Given the description of an element on the screen output the (x, y) to click on. 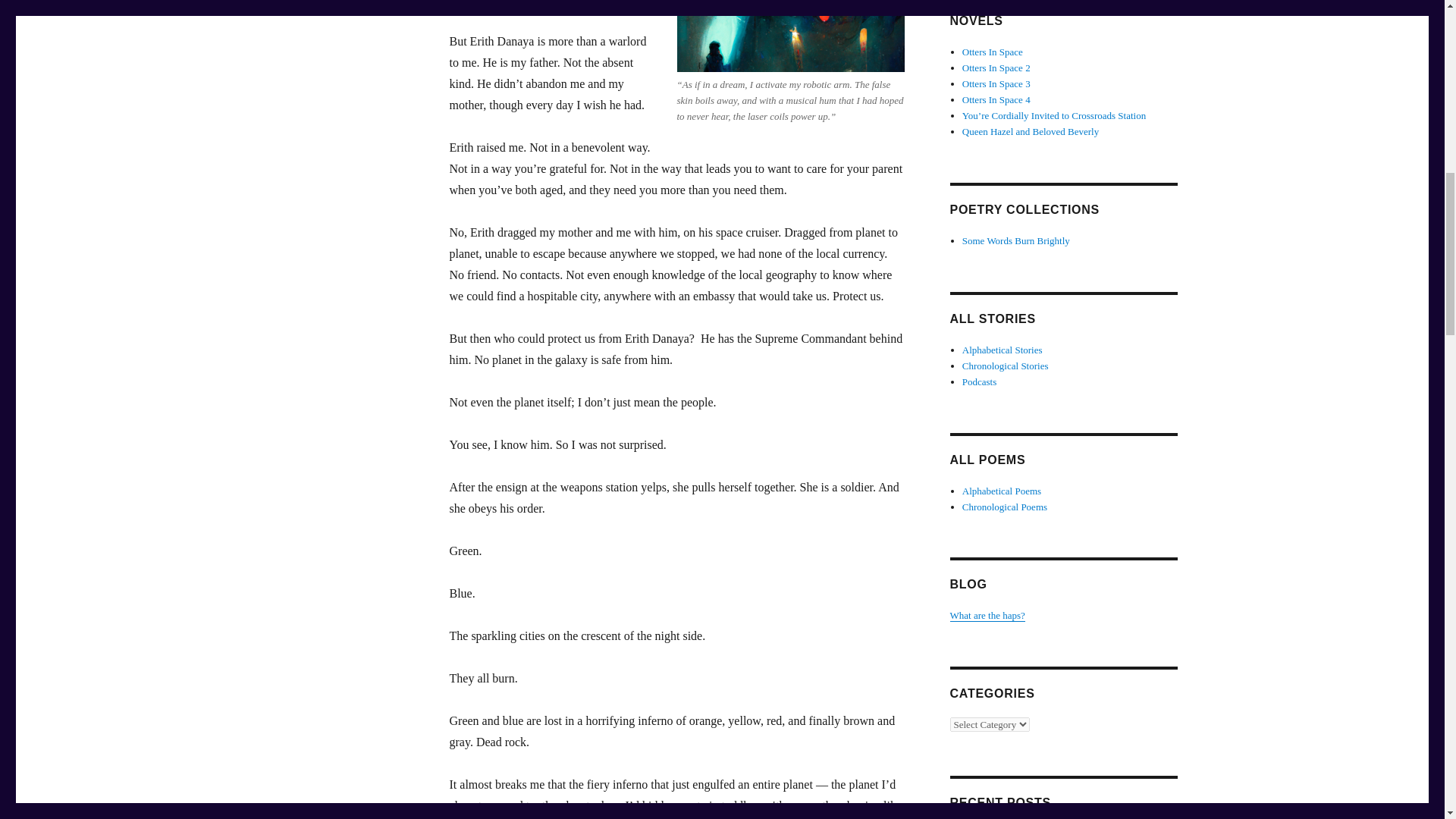
Some Words Burn Brightly (1016, 240)
What are the haps? (987, 614)
Alphabetical Stories (1002, 349)
Chronological Poems (1004, 505)
Chronological Stories (1005, 365)
Otters In Space 2 (996, 67)
Podcasts (979, 381)
Alphabetical Poems (1001, 490)
Otters In Space 3 (996, 83)
Queen Hazel and Beloved Beverly (1030, 131)
Otters In Space 4 (996, 99)
Otters In Space (992, 51)
